Given the description of an element on the screen output the (x, y) to click on. 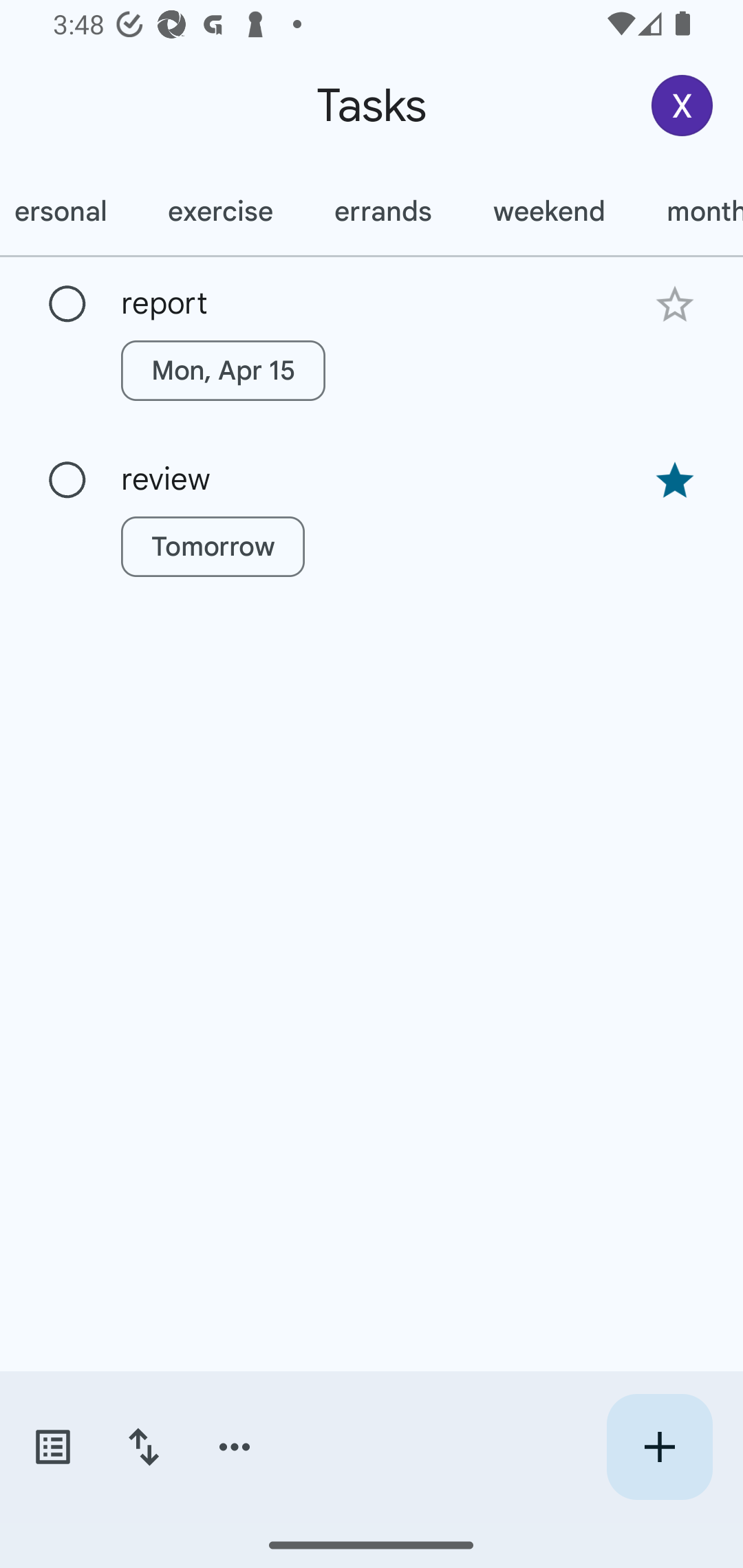
personal (68, 211)
exercise (219, 211)
errands (382, 211)
weekend (549, 211)
monthly (689, 211)
Add star (674, 303)
Mark as complete (67, 304)
Mon, Apr 15 (223, 369)
Remove star (674, 480)
Mark as complete (67, 480)
Tomorrow (212, 546)
Switch task lists (52, 1447)
Create new task (659, 1446)
Change sort order (143, 1446)
More options (234, 1446)
